Given the description of an element on the screen output the (x, y) to click on. 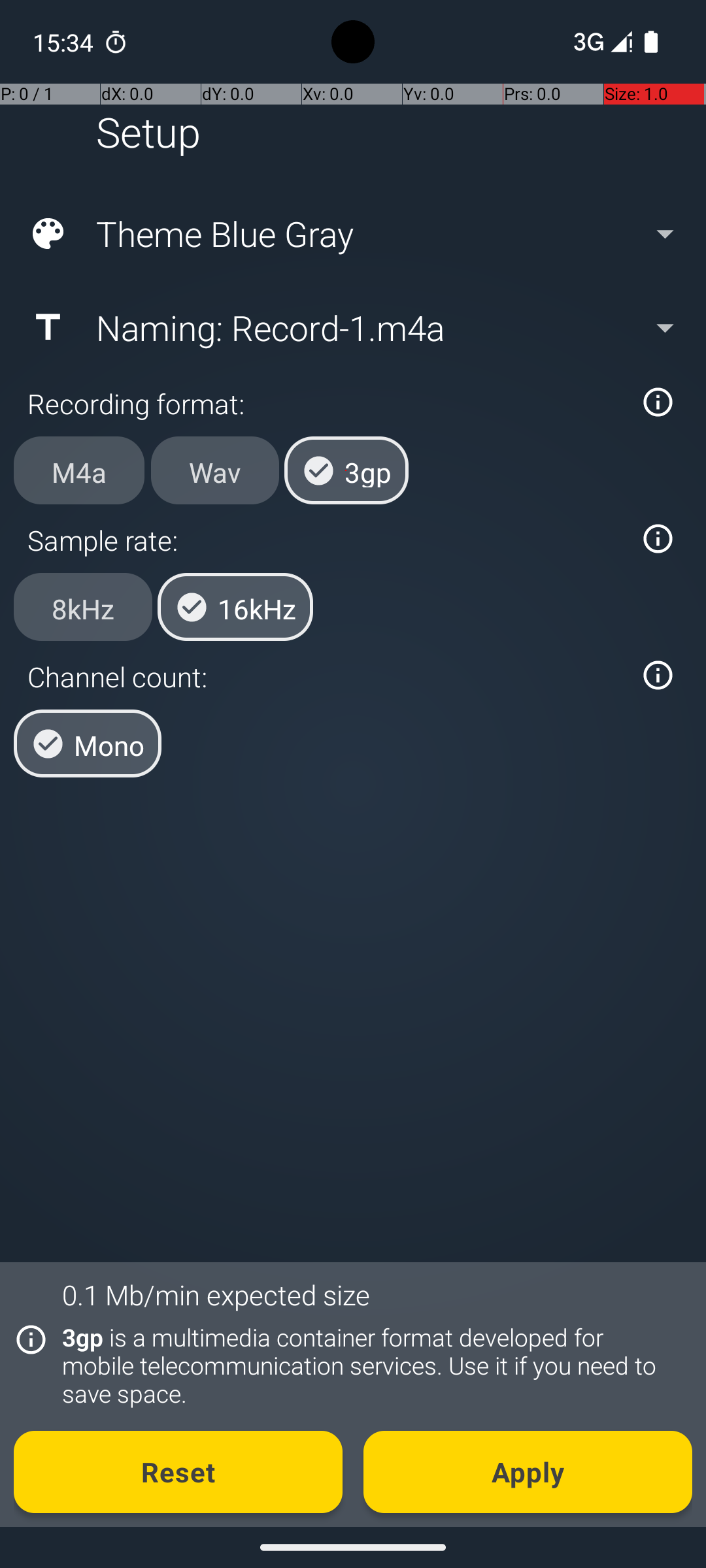
0.1 Mb/min expected size Element type: android.widget.TextView (215, 1294)
3gp is a multimedia container format developed for mobile telecommunication services. Use it if you need to save space. Element type: android.widget.TextView (370, 1364)
